Given the description of an element on the screen output the (x, y) to click on. 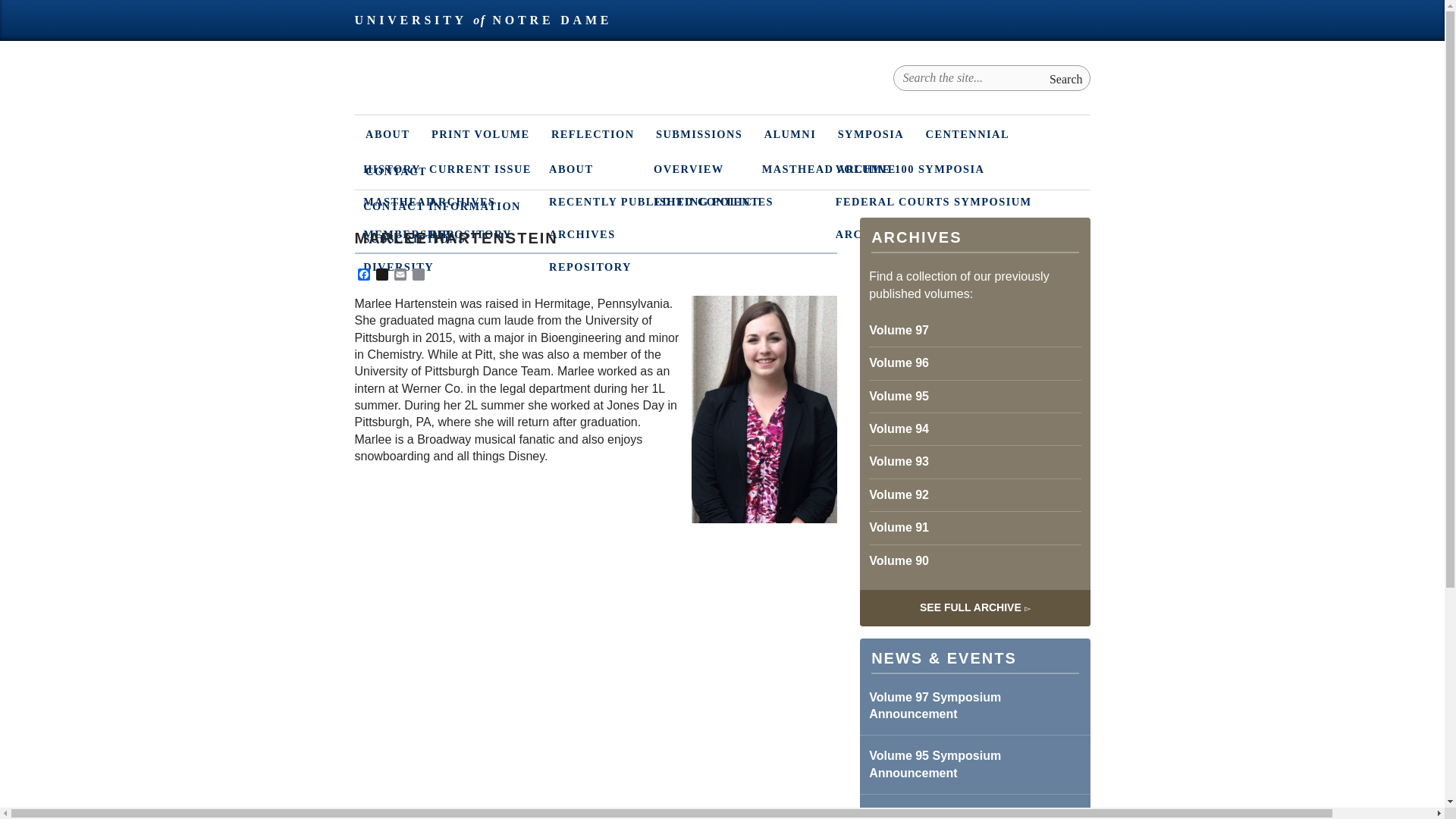
DIVERSITY (719, 266)
CONTACT (396, 170)
Facebook (363, 275)
ALUMNI (789, 133)
ARCHIVES (784, 201)
Copy Link (418, 275)
CENTENNIAL (967, 133)
Notre Dame Law Review (475, 96)
X (381, 275)
CURRENT ISSUE (784, 168)
Volume 93 (974, 461)
CONTACT INFORMATION (719, 205)
Volume 97 (974, 330)
HISTORY (719, 168)
Email (400, 275)
